Given the description of an element on the screen output the (x, y) to click on. 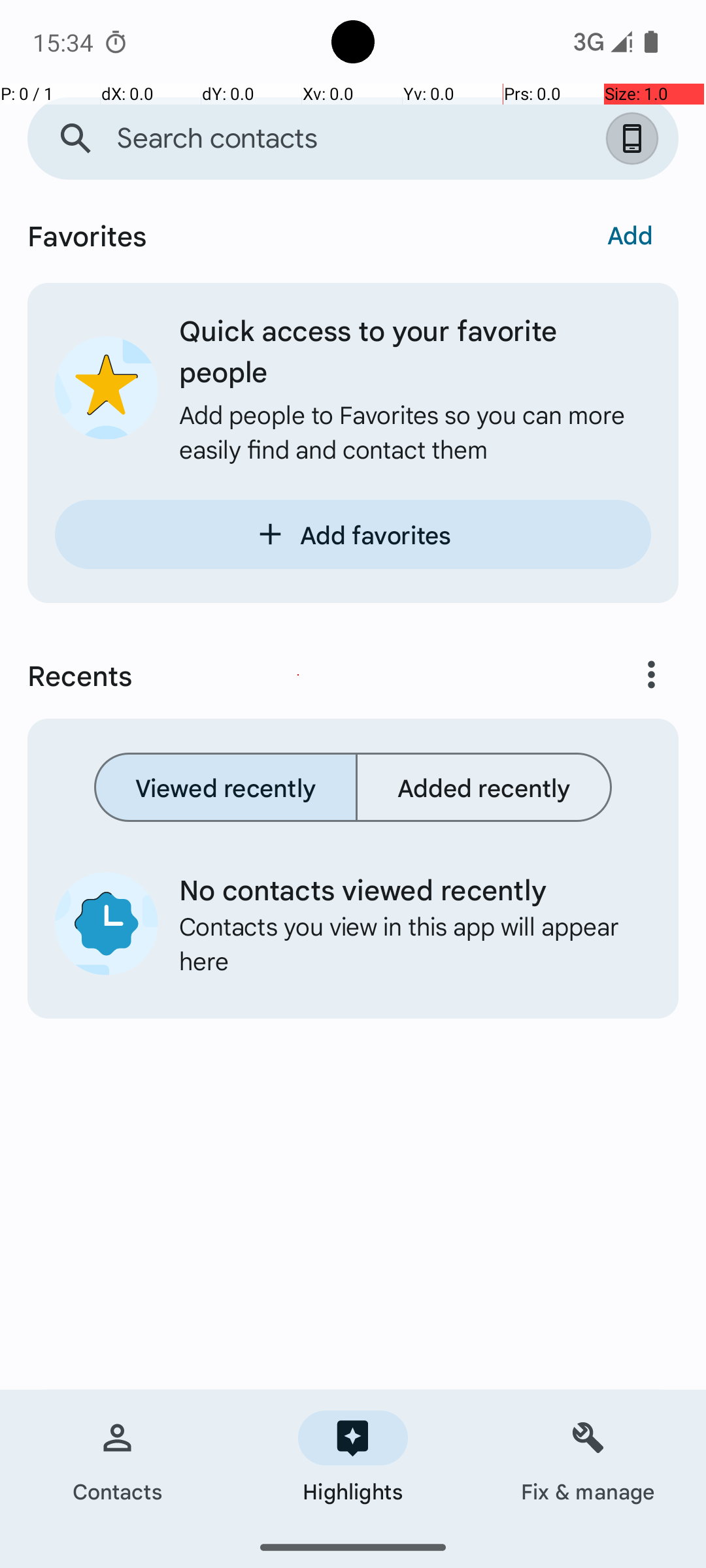
Quick access to your favorite people Element type: android.widget.TextView (415, 350)
Add people to Favorites so you can more easily find and contact them Element type: android.widget.TextView (415, 431)
Add favorites Element type: android.widget.Button (352, 534)
No contacts viewed recently Element type: android.widget.TextView (404, 888)
Contacts you view in this app will appear here Element type: android.widget.TextView (404, 942)
Viewed recently Element type: android.widget.CompoundButton (225, 787)
Added recently Element type: android.widget.CompoundButton (483, 787)
